Given the description of an element on the screen output the (x, y) to click on. 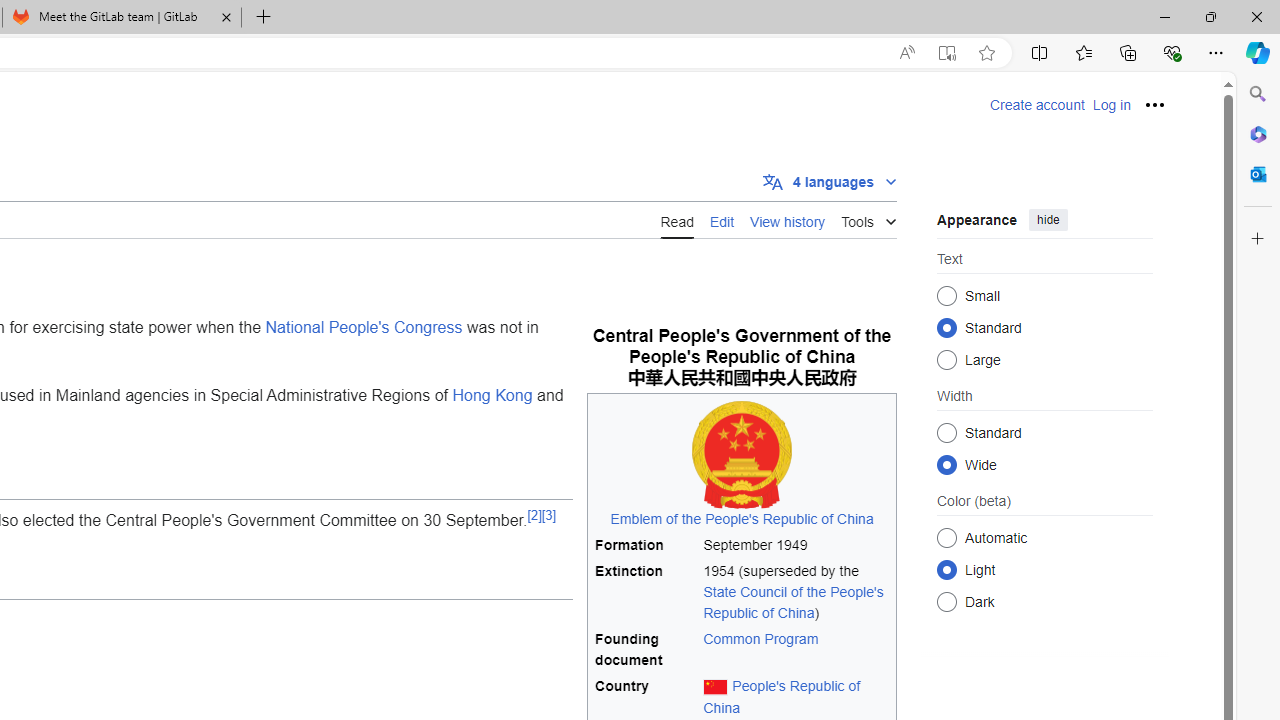
Personal tools (1155, 104)
Log in (1111, 105)
National People's Congress (363, 327)
Hong Kong (491, 394)
Read (676, 219)
Small (946, 295)
View history (787, 219)
Read (676, 219)
Class: mw-list-item mw-list-item-js (1044, 569)
